Given the description of an element on the screen output the (x, y) to click on. 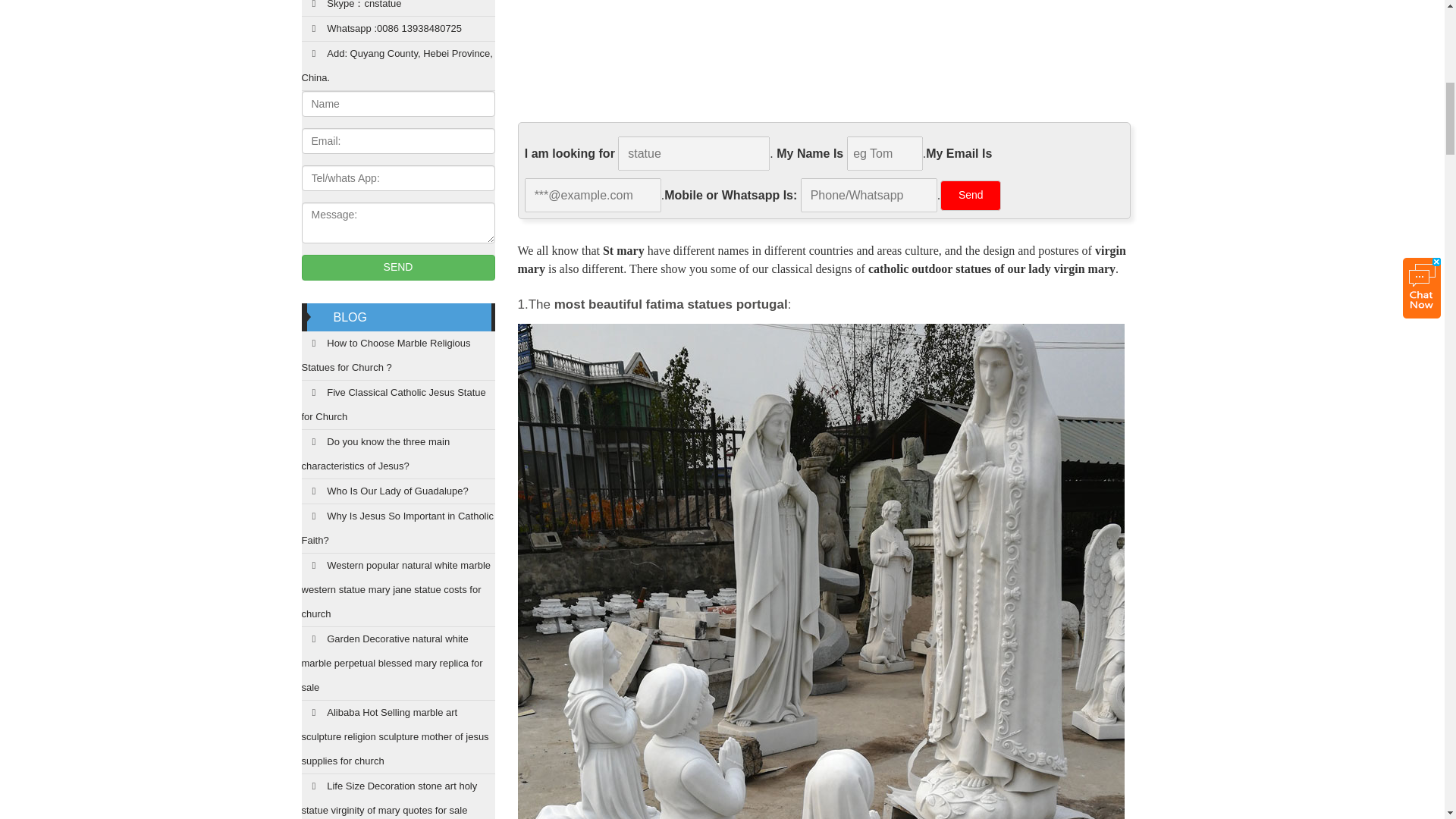
Why Is Jesus So Important in Catholic Faith? (398, 528)
Send (970, 195)
Five Classical Catholic Jesus Statue for Church (398, 404)
Why Is Jesus So Important in Catholic Faith? (398, 528)
Add: Quyang County, Hebei Province, China. (398, 65)
Do you know the three main characteristics of Jesus? (398, 454)
How to Choose Marble Religious Statues for Church ? (398, 355)
Who Is Our Lady of Guadalupe? (398, 491)
How to Choose Marble Religious Statues for Church ? (398, 355)
Who Is Our Lady of Guadalupe? (398, 491)
Whatsapp :0086 13938480725 (398, 28)
SEND (398, 267)
Do you know the three main characteristics of Jesus? (398, 454)
Five Classical Catholic Jesus Statue for Church (398, 404)
